Given the description of an element on the screen output the (x, y) to click on. 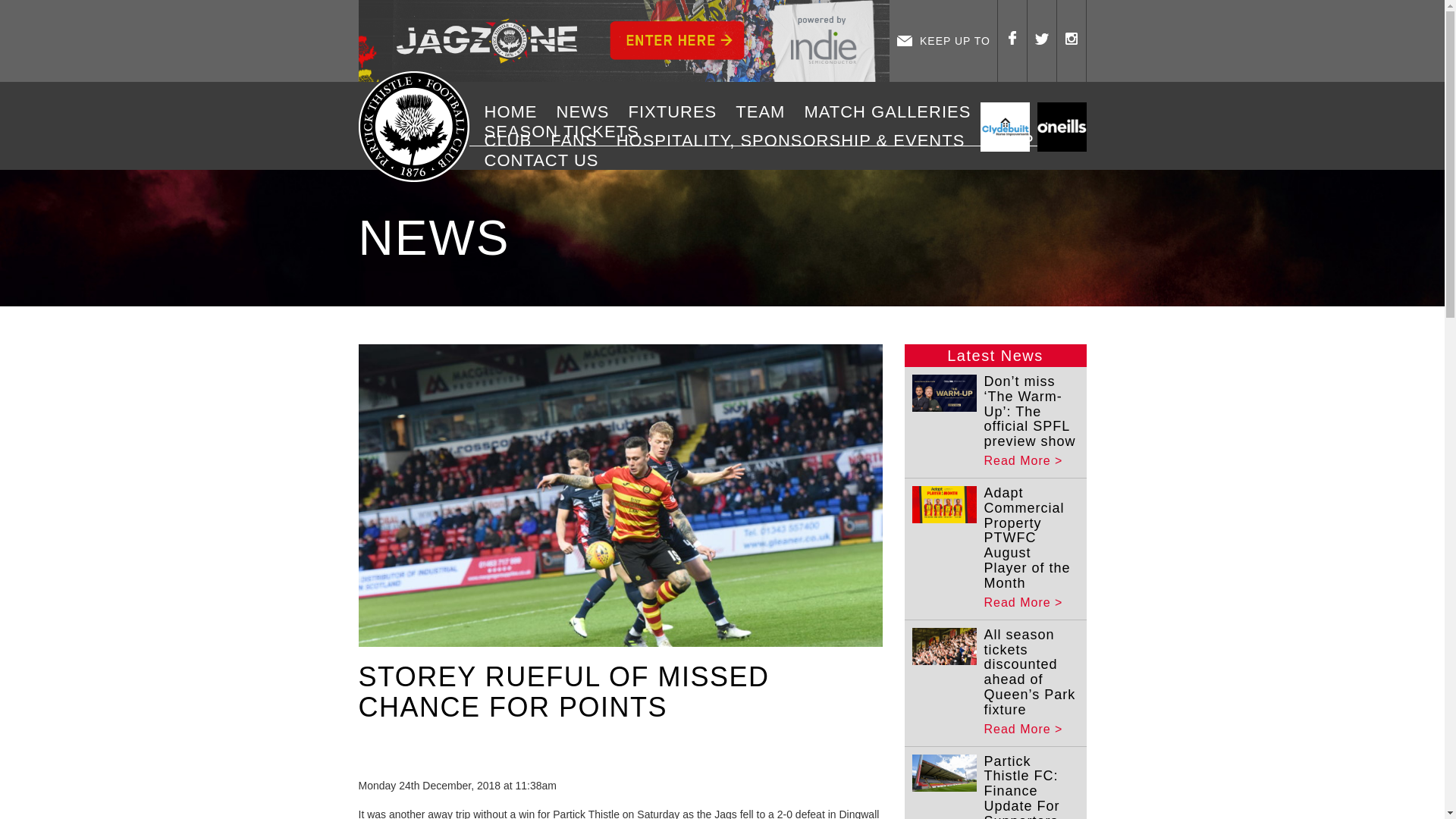
TEAM (765, 112)
CONTACT US (547, 160)
Enter the JAGZONE (623, 40)
NEWS (587, 112)
MATCH GALLERIES (892, 112)
SHOP (1013, 140)
CLUB (513, 140)
FIXTURES (678, 112)
FANS (579, 140)
